Given the description of an element on the screen output the (x, y) to click on. 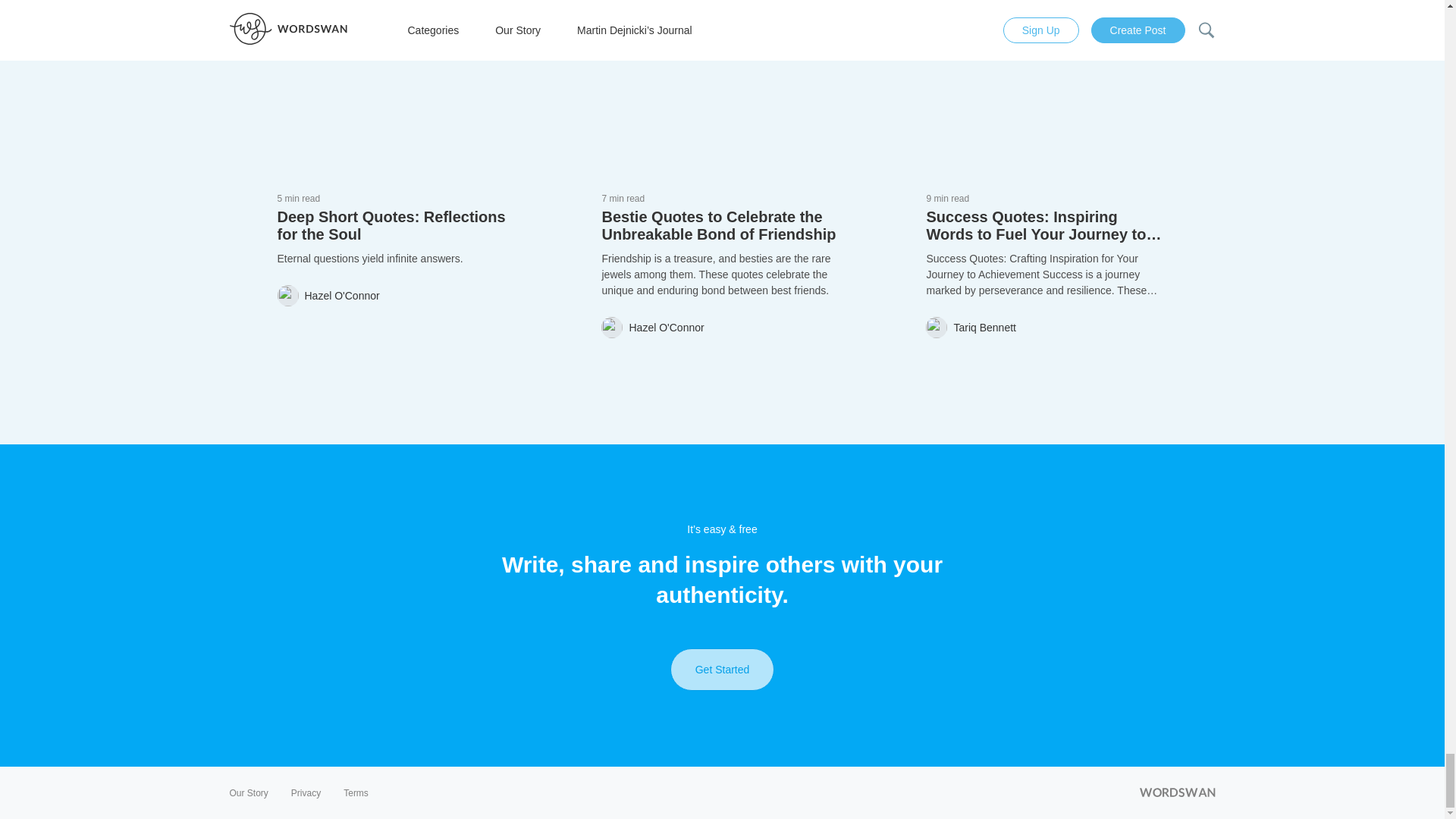
Tariq Bennett (971, 327)
Get Started (721, 670)
Hazel O'Connor (329, 295)
Our Story (247, 792)
Get Started (721, 669)
Terms (355, 792)
Privacy (305, 792)
Deep Short Quotes: Reflections for the Soul (398, 225)
Hazel O'Connor (652, 327)
